Given the description of an element on the screen output the (x, y) to click on. 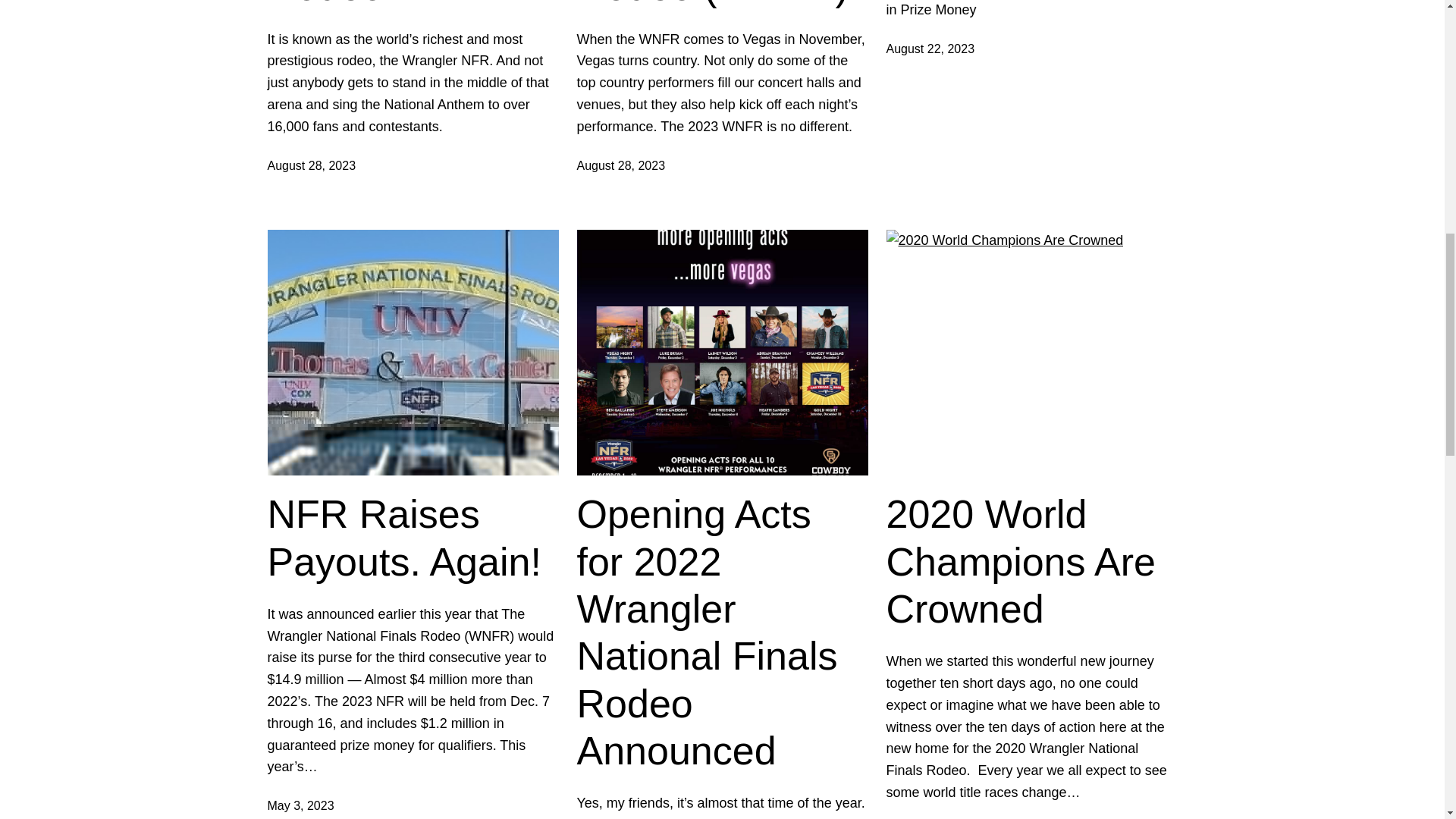
NFR Raises Payouts. Again! (411, 537)
August 22, 2023 (929, 48)
August 28, 2023 (620, 164)
August 28, 2023 (310, 164)
May 3, 2023 (299, 805)
2020 World Champions Are Crowned (1030, 561)
